Given the description of an element on the screen output the (x, y) to click on. 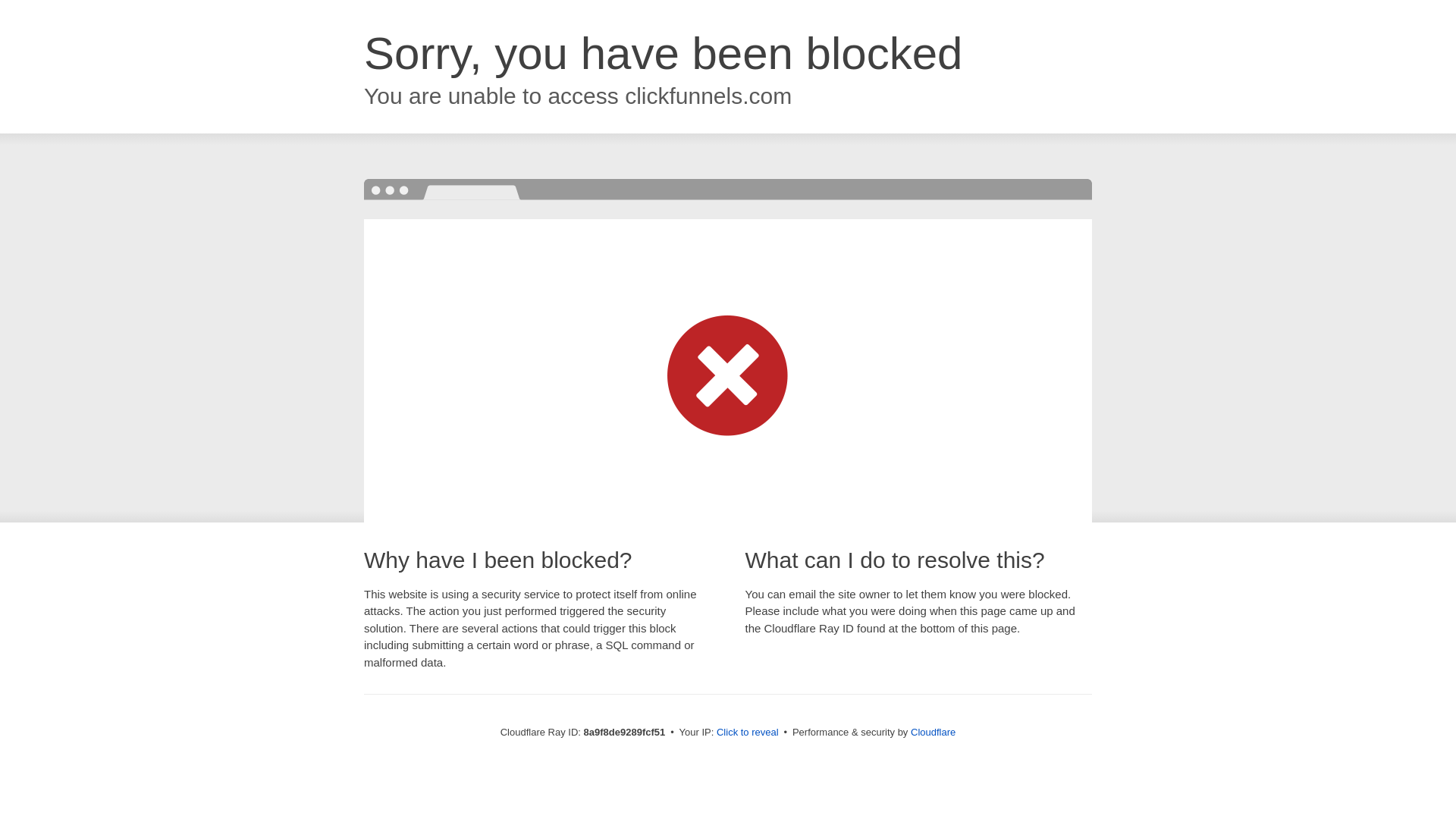
Cloudflare (933, 731)
Click to reveal (747, 732)
